Given the description of an element on the screen output the (x, y) to click on. 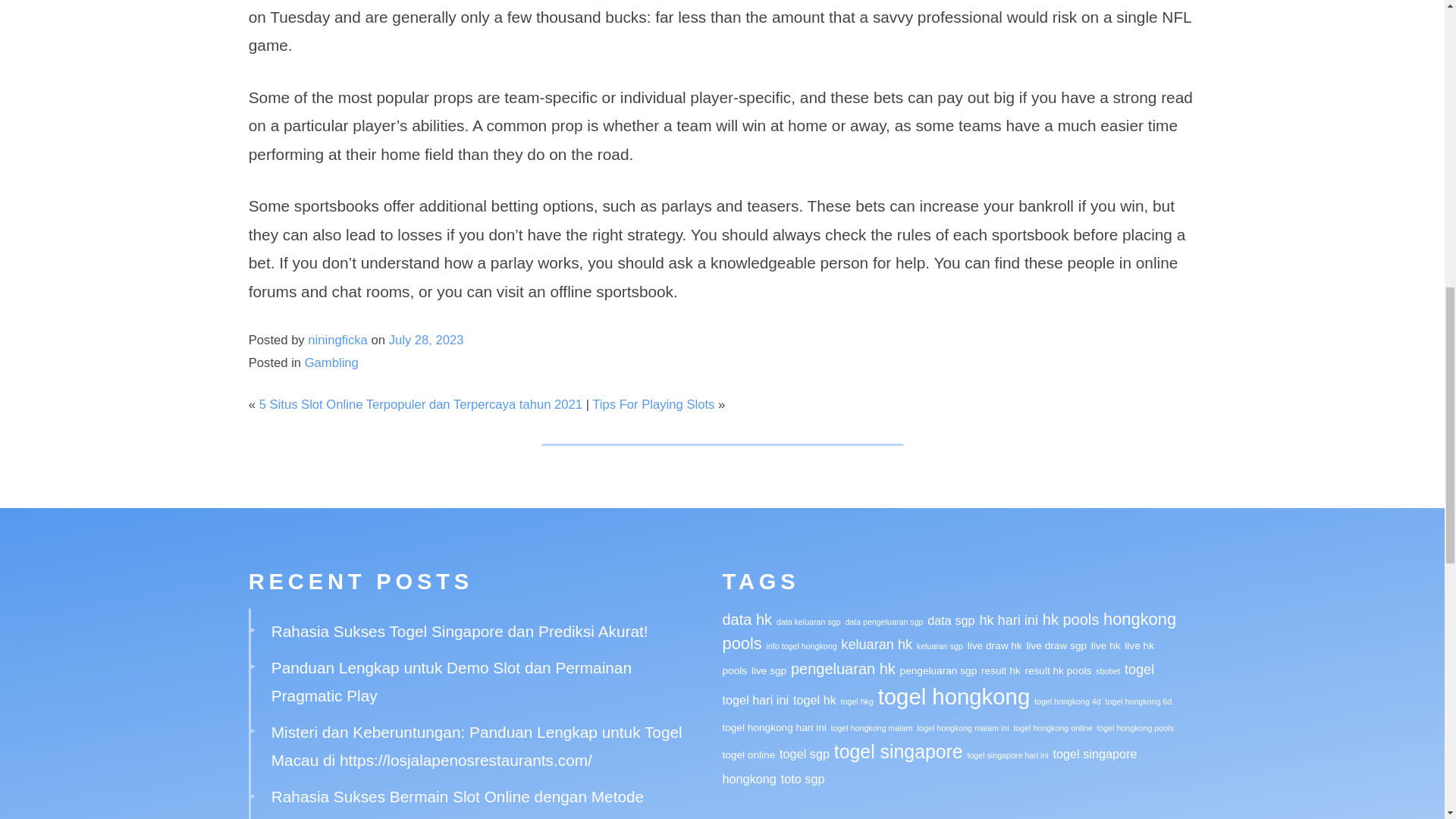
data keluaran sgp (808, 621)
July 28, 2023 (426, 339)
togel hkg (857, 700)
hk pools (1070, 619)
Panduan Lengkap untuk Demo Slot dan Permainan Pragmatic Play (450, 681)
hk hari ini (1008, 620)
sbobet (1107, 670)
result hk (1000, 670)
Rahasia Sukses Togel Singapore dan Prediksi Akurat! (458, 630)
hongkong pools (949, 631)
result hk pools (1057, 670)
keluaran hk (876, 644)
live draw sgp (1056, 645)
live hk (1105, 645)
